Given the description of an element on the screen output the (x, y) to click on. 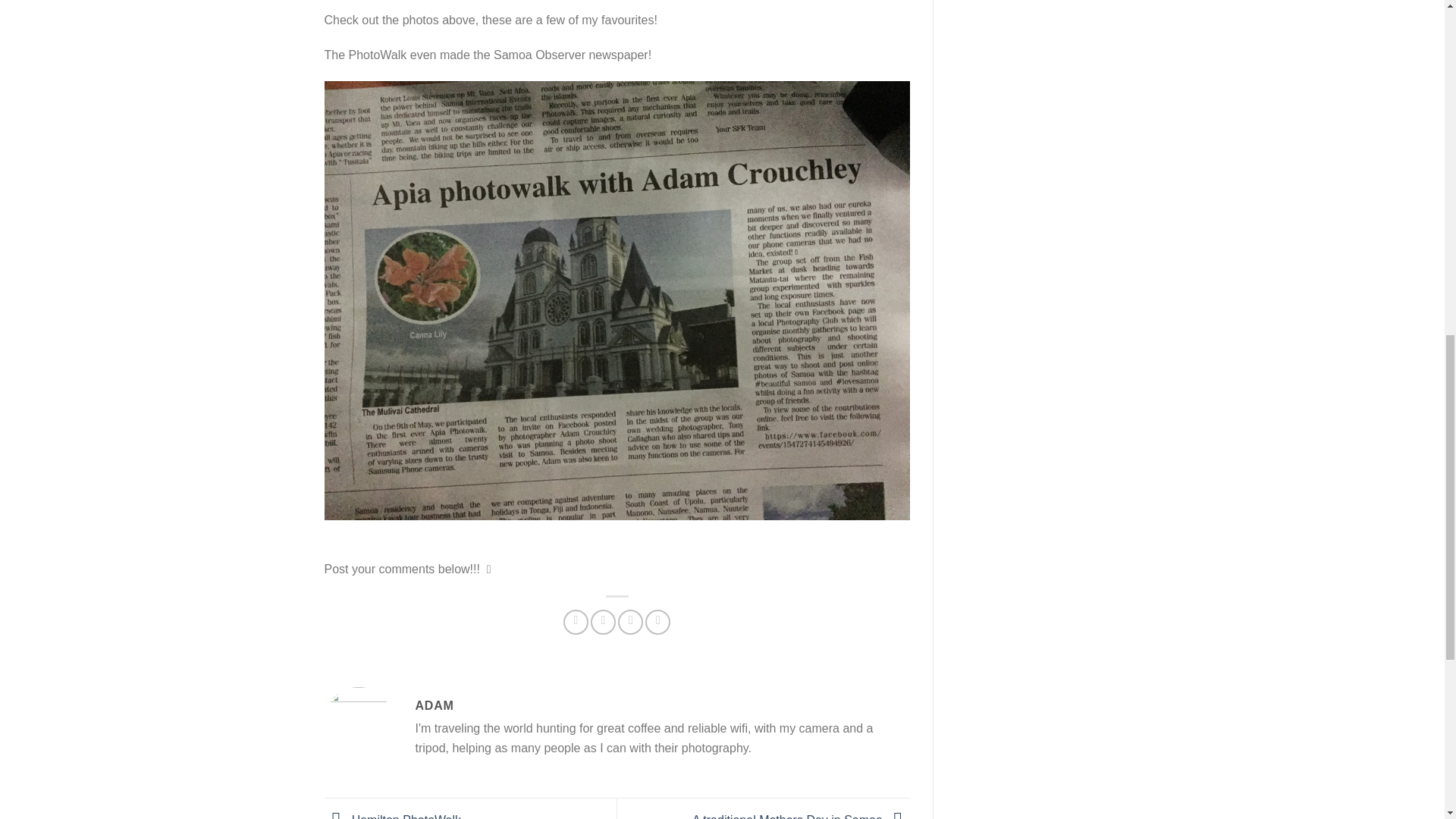
A traditional Mothers Day in Samoa (801, 816)
Hamilton PhotoWalk (392, 816)
